Given the description of an element on the screen output the (x, y) to click on. 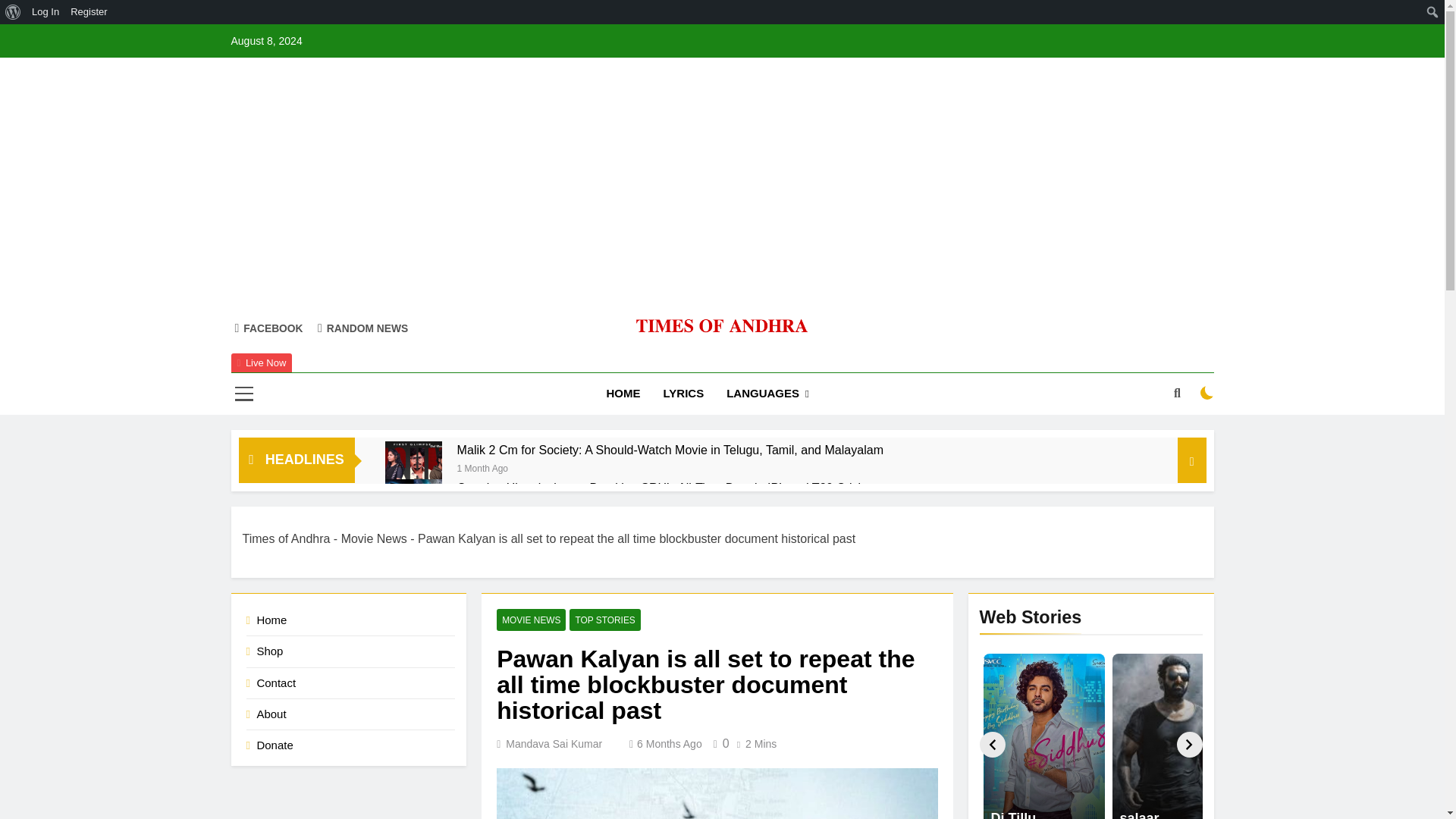
on (1206, 392)
LANGUAGES (767, 393)
Search (16, 12)
HOME (623, 393)
Log In (45, 12)
LYRICS (684, 393)
RANDOM NEWS (362, 327)
